Given the description of an element on the screen output the (x, y) to click on. 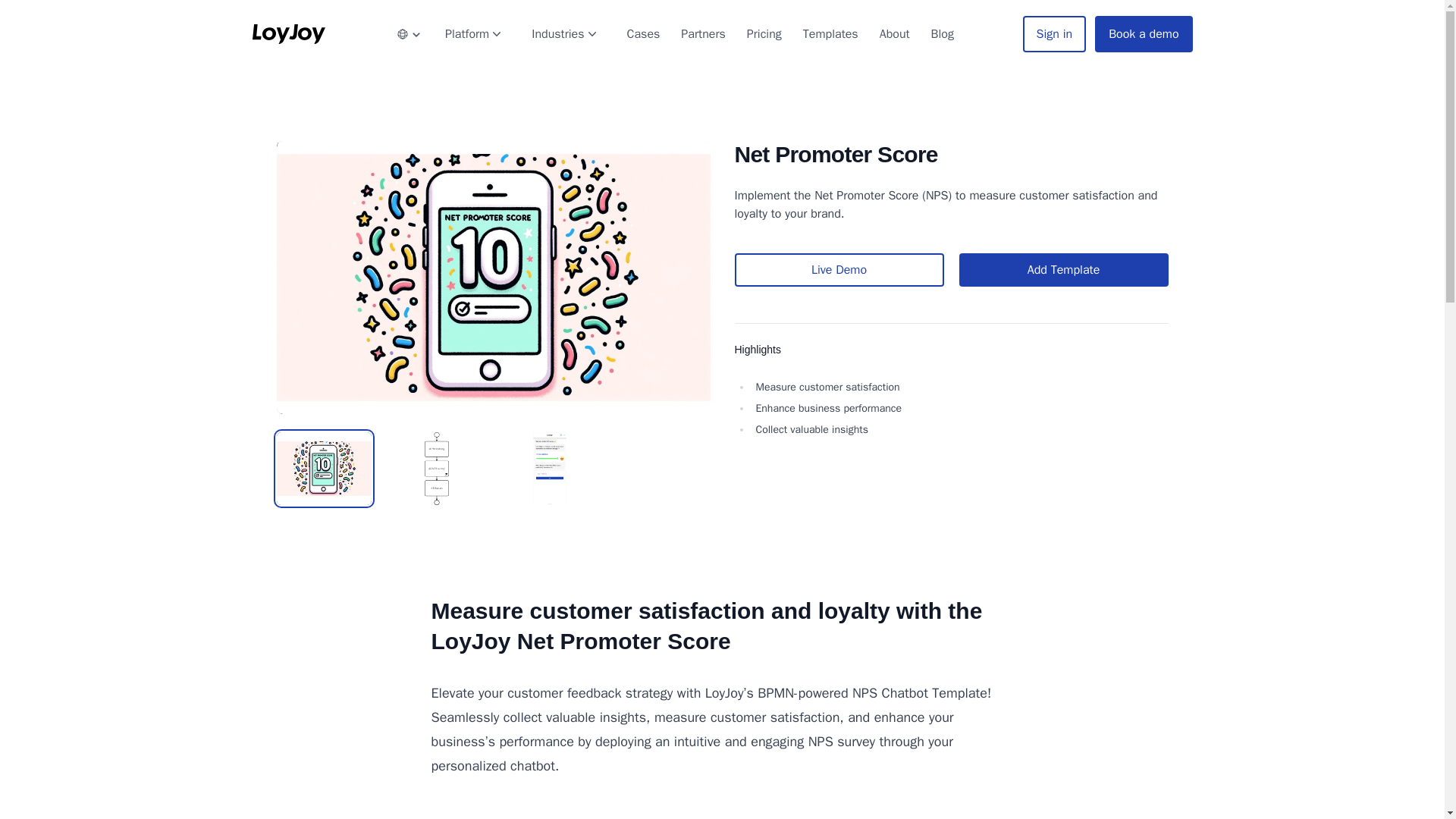
Book a demo (1143, 33)
Add Template (1062, 269)
Platform (472, 33)
About (894, 33)
Sign in (1054, 33)
Industries (563, 33)
Templates (830, 33)
Blog (941, 33)
Cases (643, 33)
Live Demo (838, 269)
Partners (702, 33)
Pricing (764, 33)
